Given the description of an element on the screen output the (x, y) to click on. 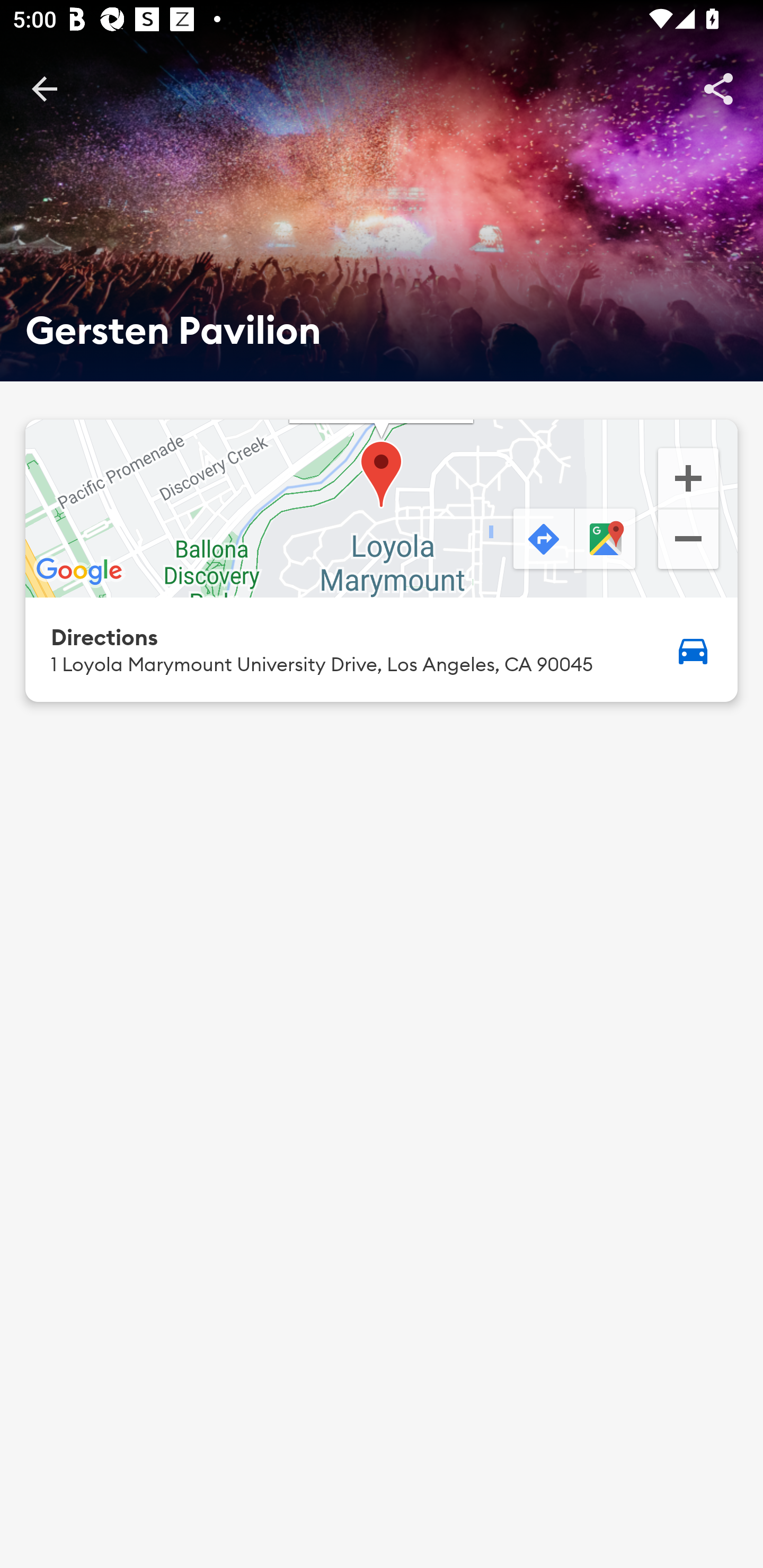
BackButton (44, 88)
Share (718, 88)
Zoom in (687, 476)
Get directions (541, 539)
Open in Google Maps (606, 539)
Zoom out (687, 540)
